Given the description of an element on the screen output the (x, y) to click on. 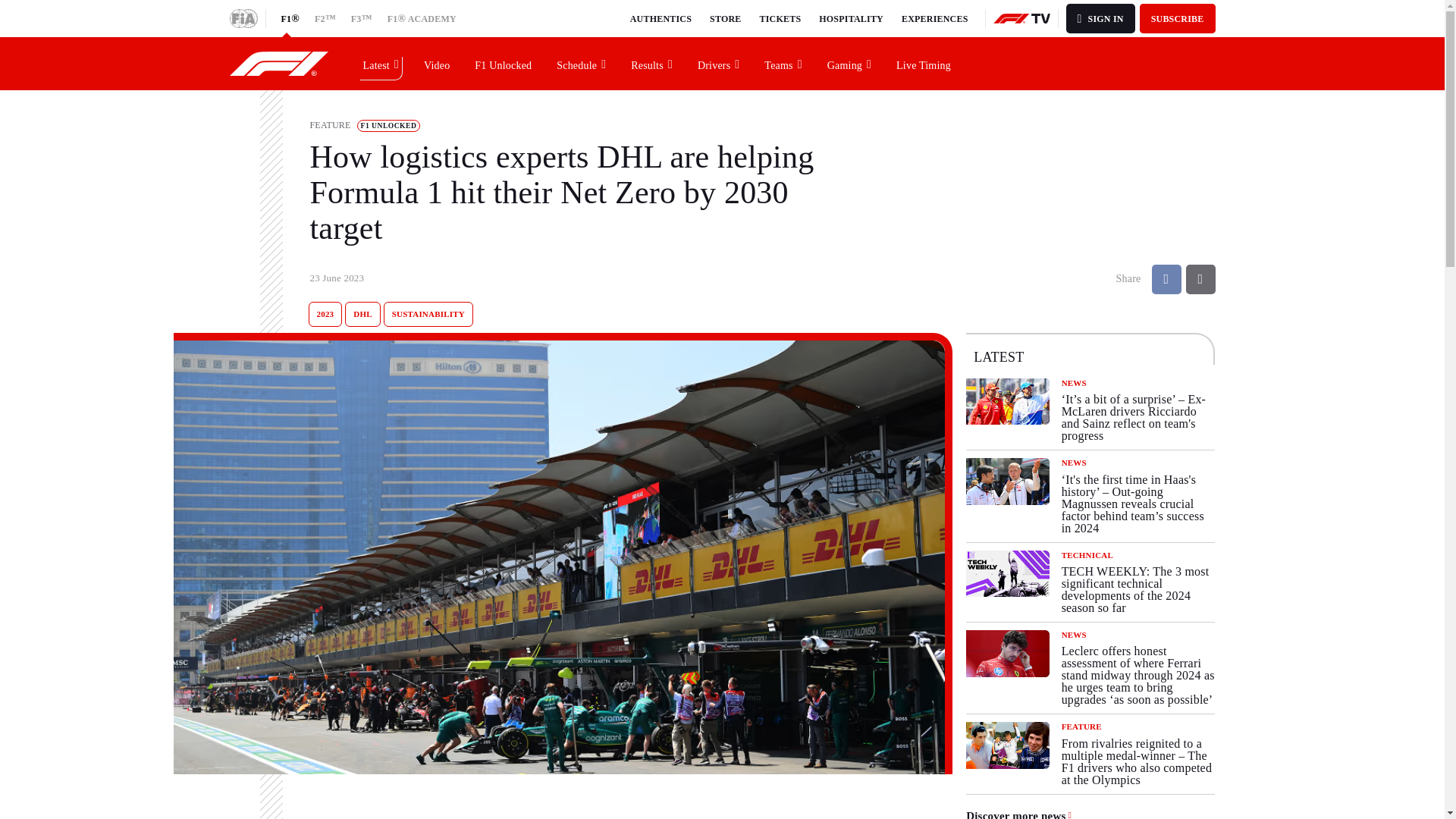
DHL (362, 314)
Teams (782, 63)
F1 Unlocked (503, 63)
STORE (725, 18)
2023 (324, 314)
EXPERIENCES (934, 18)
HOSPITALITY (850, 18)
Schedule (581, 63)
AUTHENTICS (660, 18)
TICKETS (781, 18)
